Given the description of an element on the screen output the (x, y) to click on. 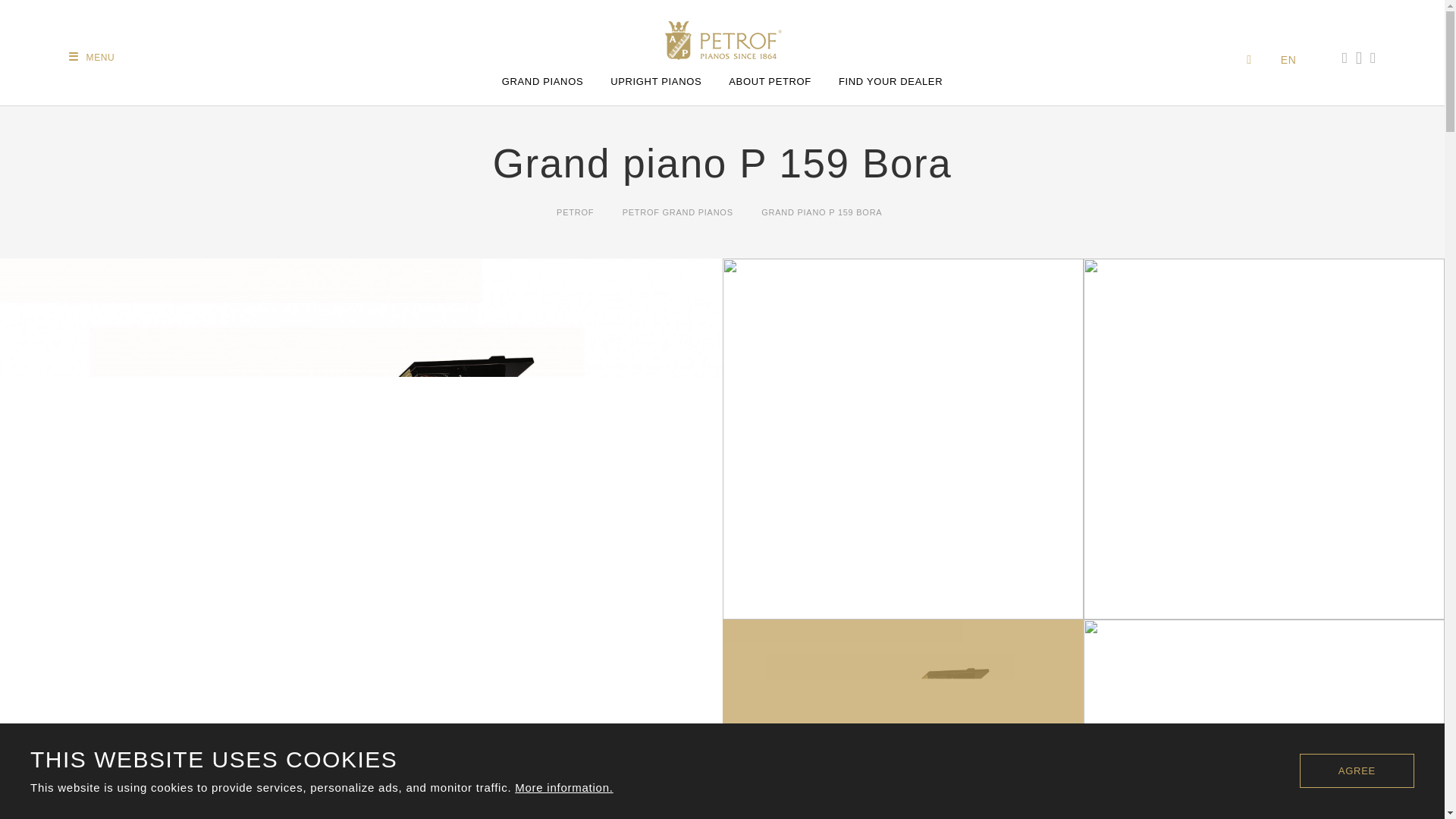
GRAND PIANOS (542, 81)
UPRIGHT PIANOS (655, 81)
FIND YOUR DEALER (889, 81)
ABOUT PETROF (769, 81)
